Given the description of an element on the screen output the (x, y) to click on. 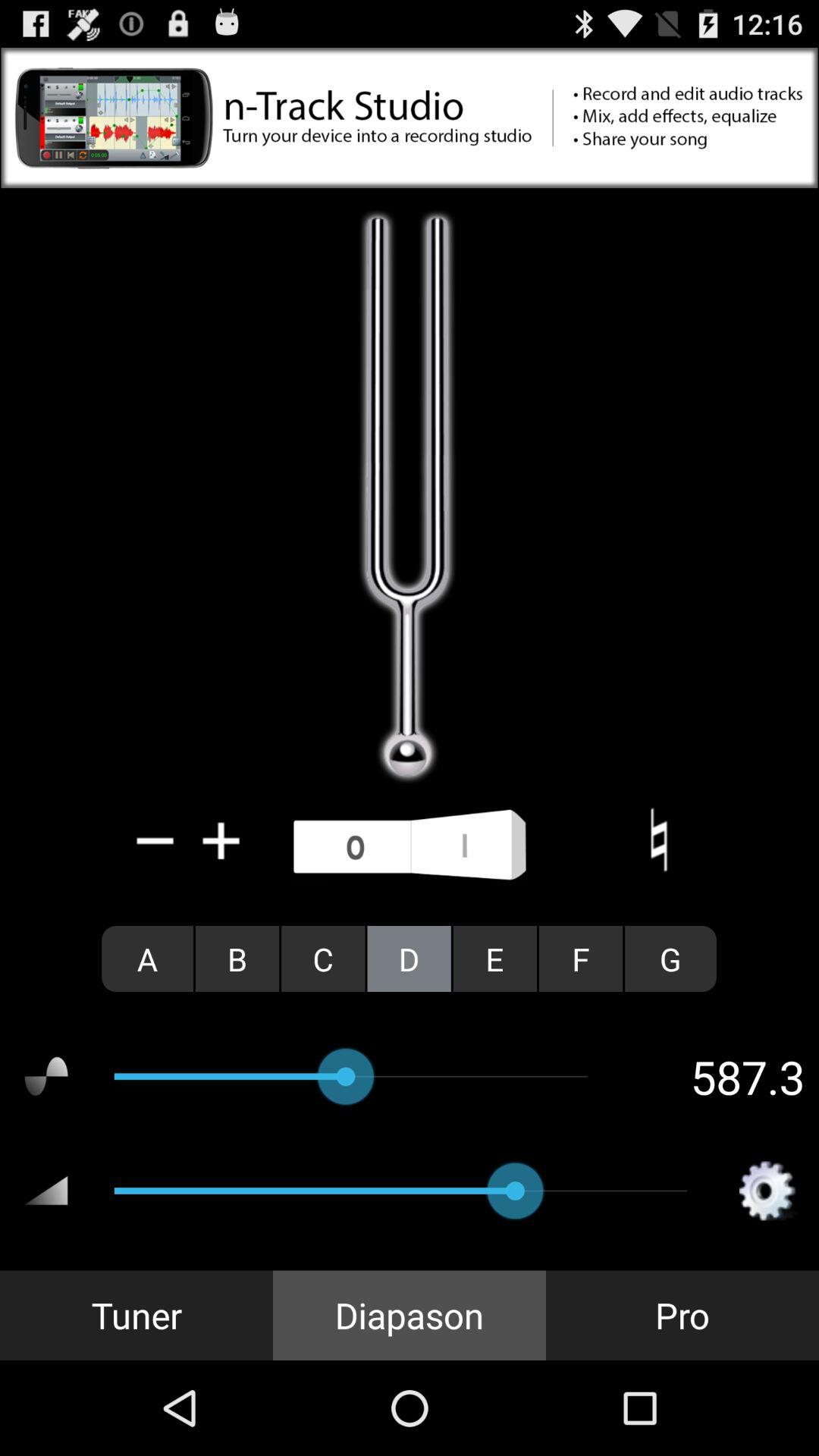
open the icon above the f item (658, 840)
